Given the description of an element on the screen output the (x, y) to click on. 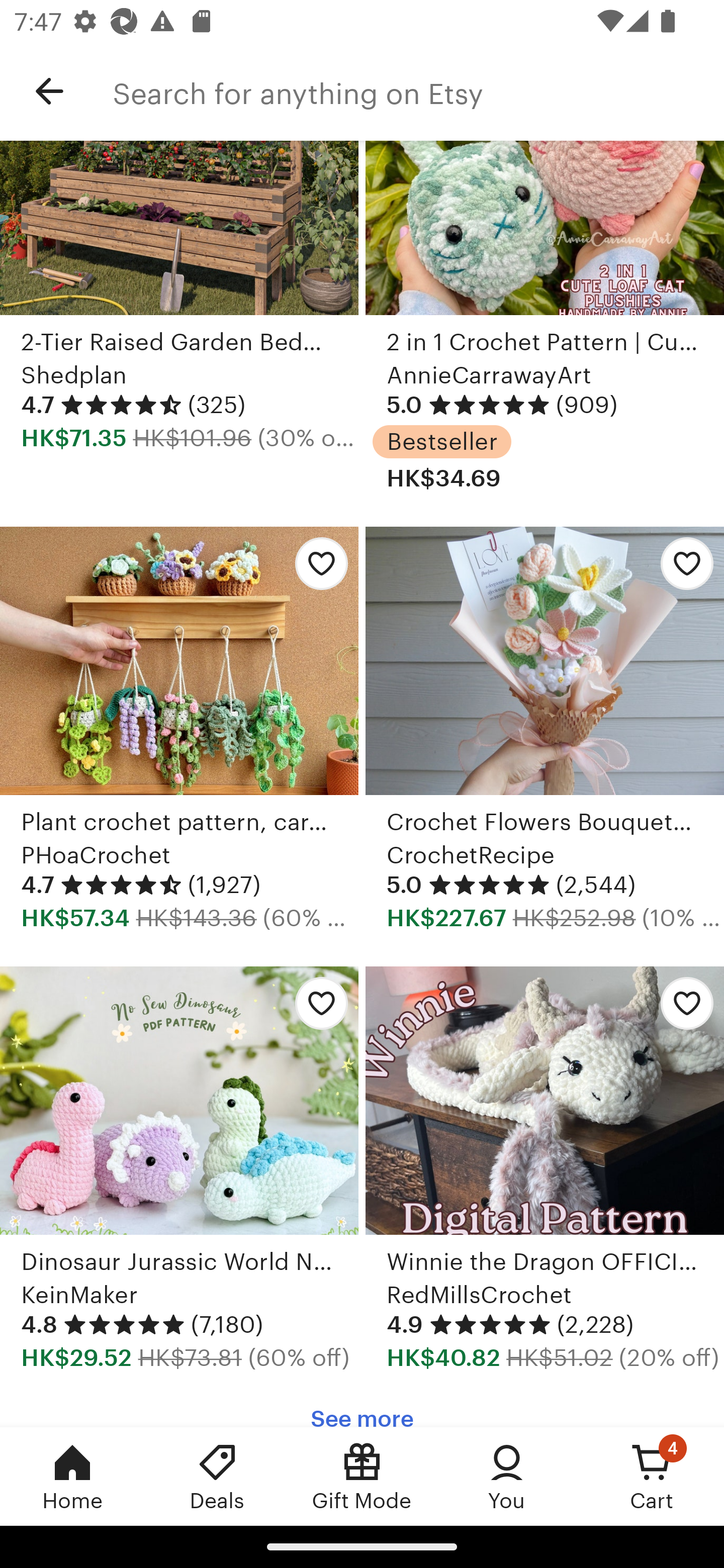
Navigate up (49, 91)
Search for anything on Etsy (418, 91)
Deals (216, 1475)
Gift Mode (361, 1475)
You (506, 1475)
Cart, 4 new notifications Cart (651, 1475)
